Given the description of an element on the screen output the (x, y) to click on. 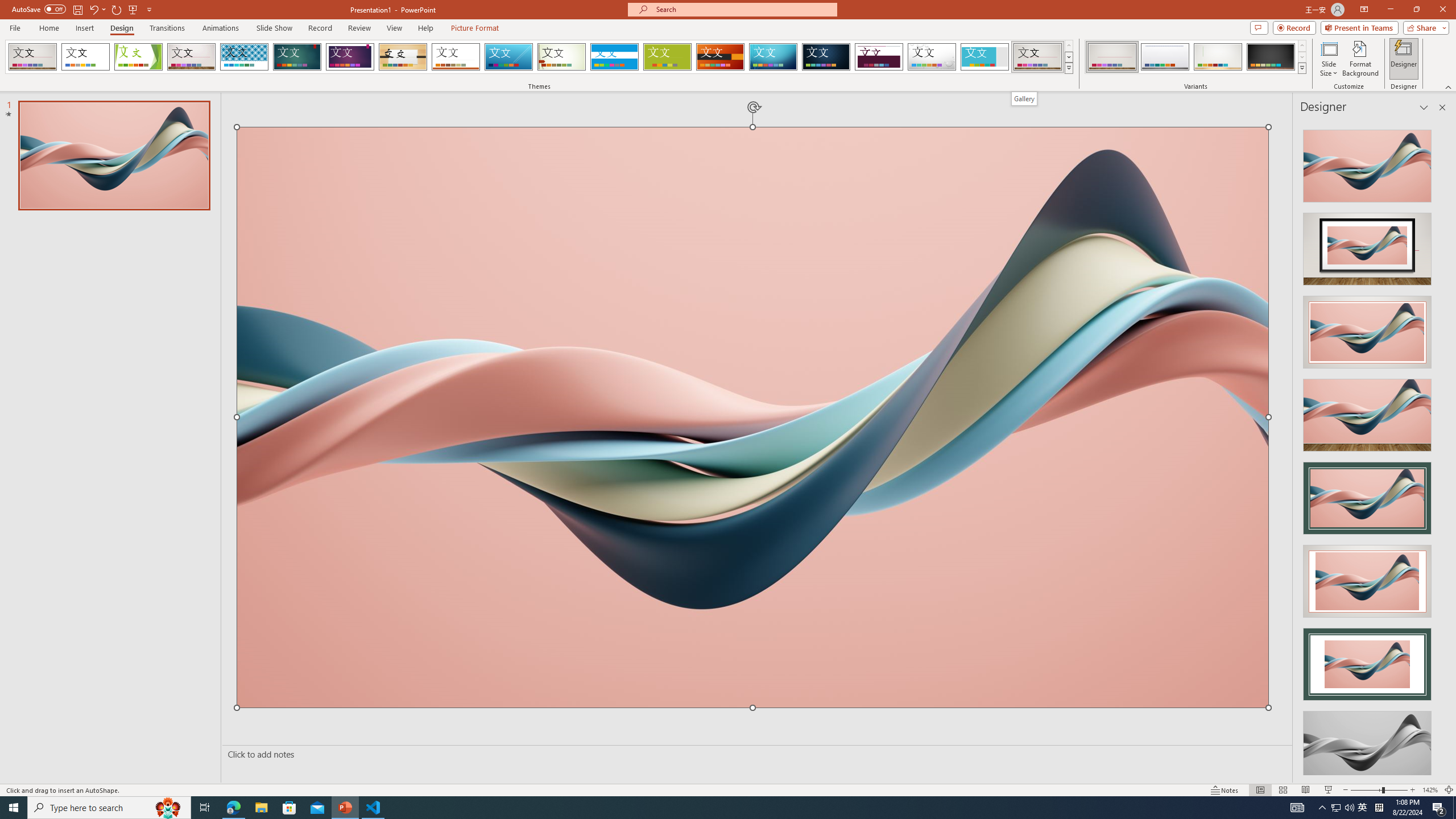
Damask (826, 56)
Facet (138, 56)
Gallery Variant 3 (1217, 56)
Retrospect (455, 56)
Gallery Variant 2 (1164, 56)
AutomationID: ThemeVariantsGallery (1195, 56)
